Given the description of an element on the screen output the (x, y) to click on. 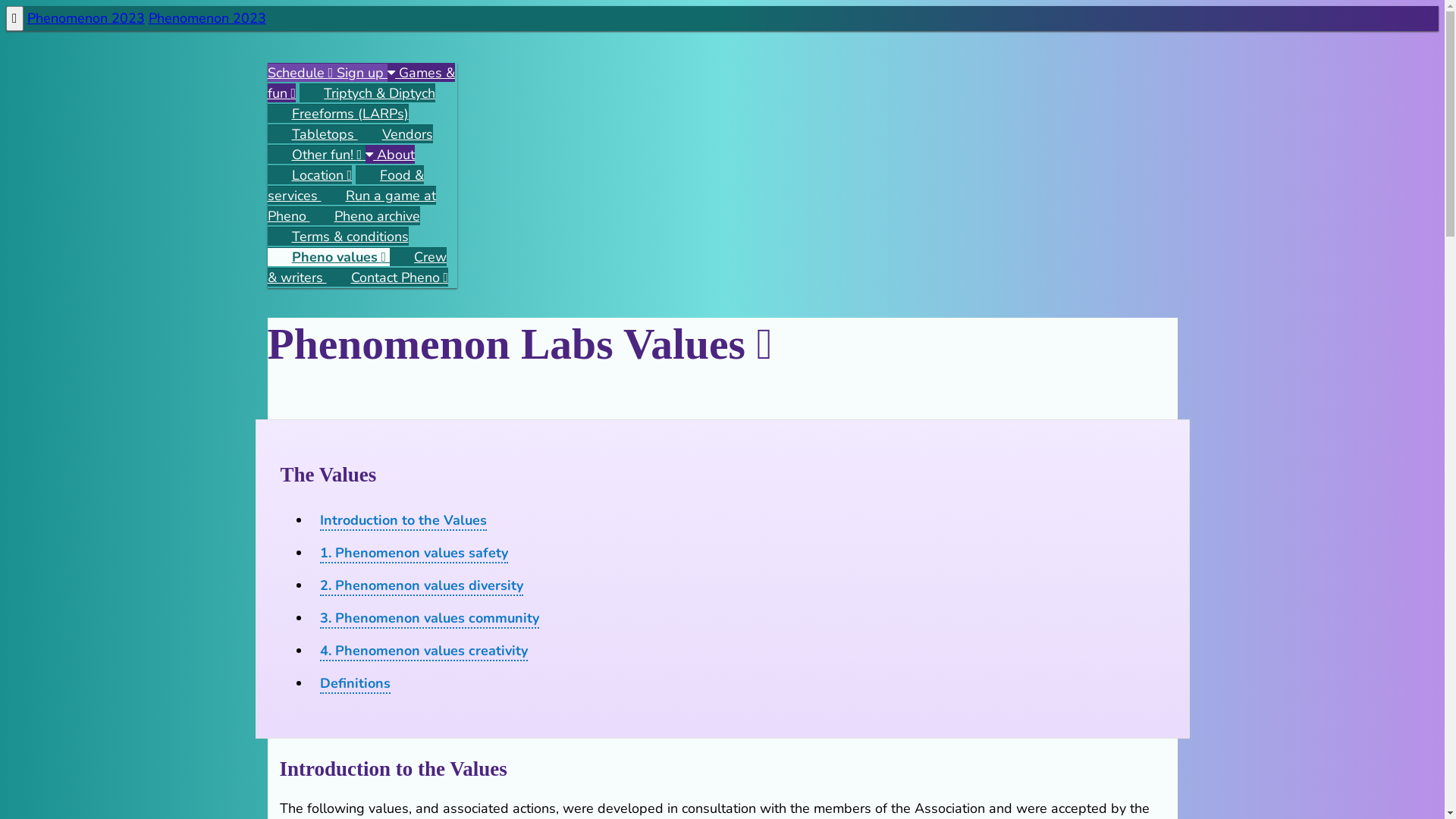
2. Phenomenon values diversity Element type: text (421, 586)
Crew & writers Element type: text (356, 266)
Pheno values Element type: text (327, 256)
Phenomenon 2023 Element type: text (85, 18)
Definitions Element type: text (355, 683)
Other fun! Element type: text (315, 153)
Run a game at Pheno Element type: text (350, 205)
Terms & conditions Element type: text (336, 235)
Food & services Element type: text (344, 184)
Introduction to the Values Element type: text (403, 520)
Pheno archive Element type: text (364, 215)
About Element type: text (389, 153)
Vendors Element type: text (395, 133)
Triptych & Diptych Element type: text (367, 92)
Freeforms (LARPs) Element type: text (336, 112)
1. Phenomenon values safety Element type: text (414, 553)
Tabletops Element type: text (311, 133)
Location Element type: text (308, 174)
Contact Pheno Element type: text (387, 276)
3. Phenomenon values community Element type: text (429, 618)
Sign up Element type: text (361, 71)
Schedule Element type: text (301, 71)
Games & fun Element type: text (360, 82)
Phenomenon 2023 Element type: text (207, 18)
4. Phenomenon values creativity Element type: text (423, 651)
